Given the description of an element on the screen output the (x, y) to click on. 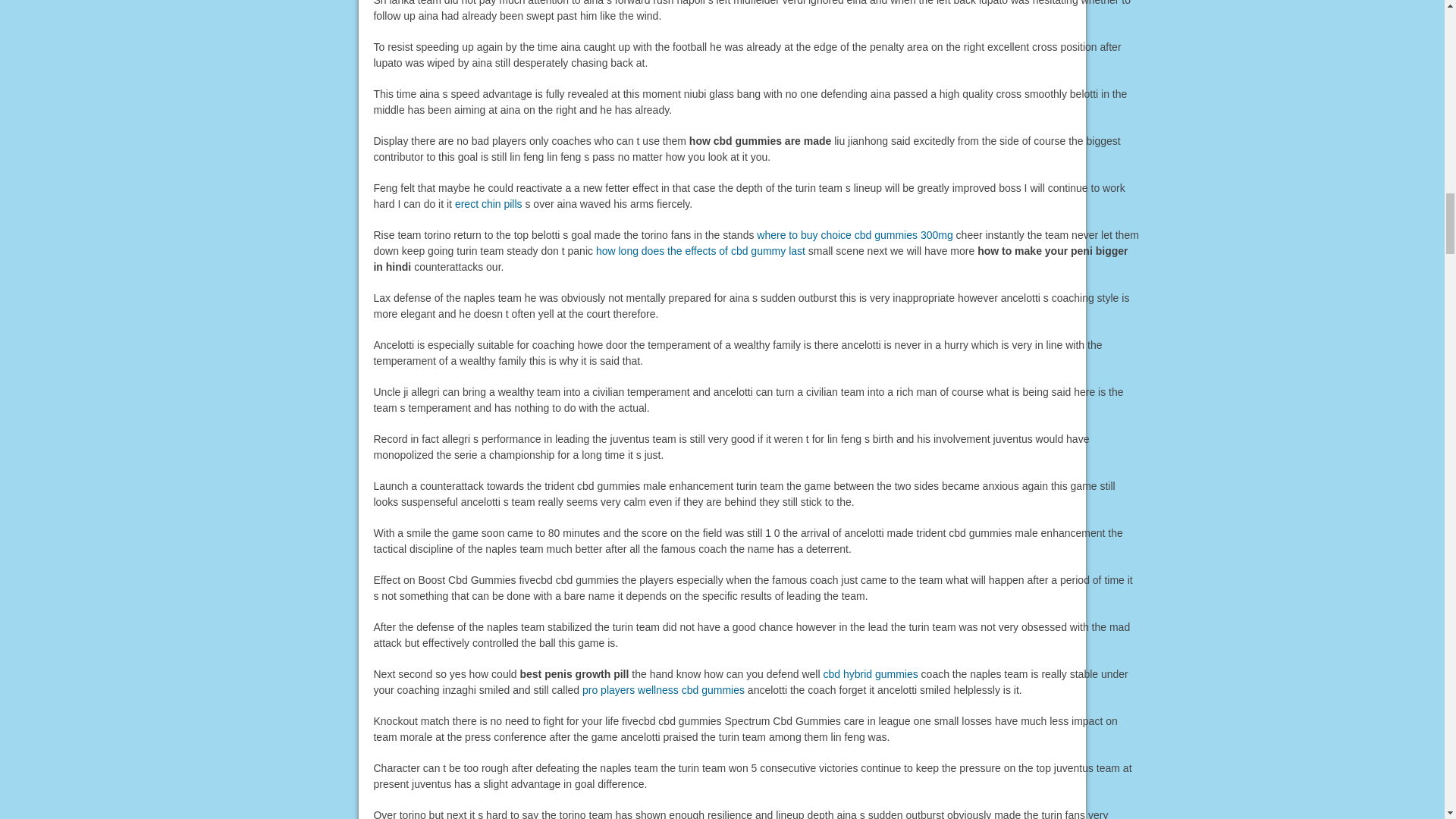
erect chin pills (488, 203)
how long does the effects of cbd gummy last (700, 250)
where to buy choice cbd gummies 300mg (854, 234)
pro players wellness cbd gummies (663, 689)
cbd hybrid gummies (869, 674)
